Given the description of an element on the screen output the (x, y) to click on. 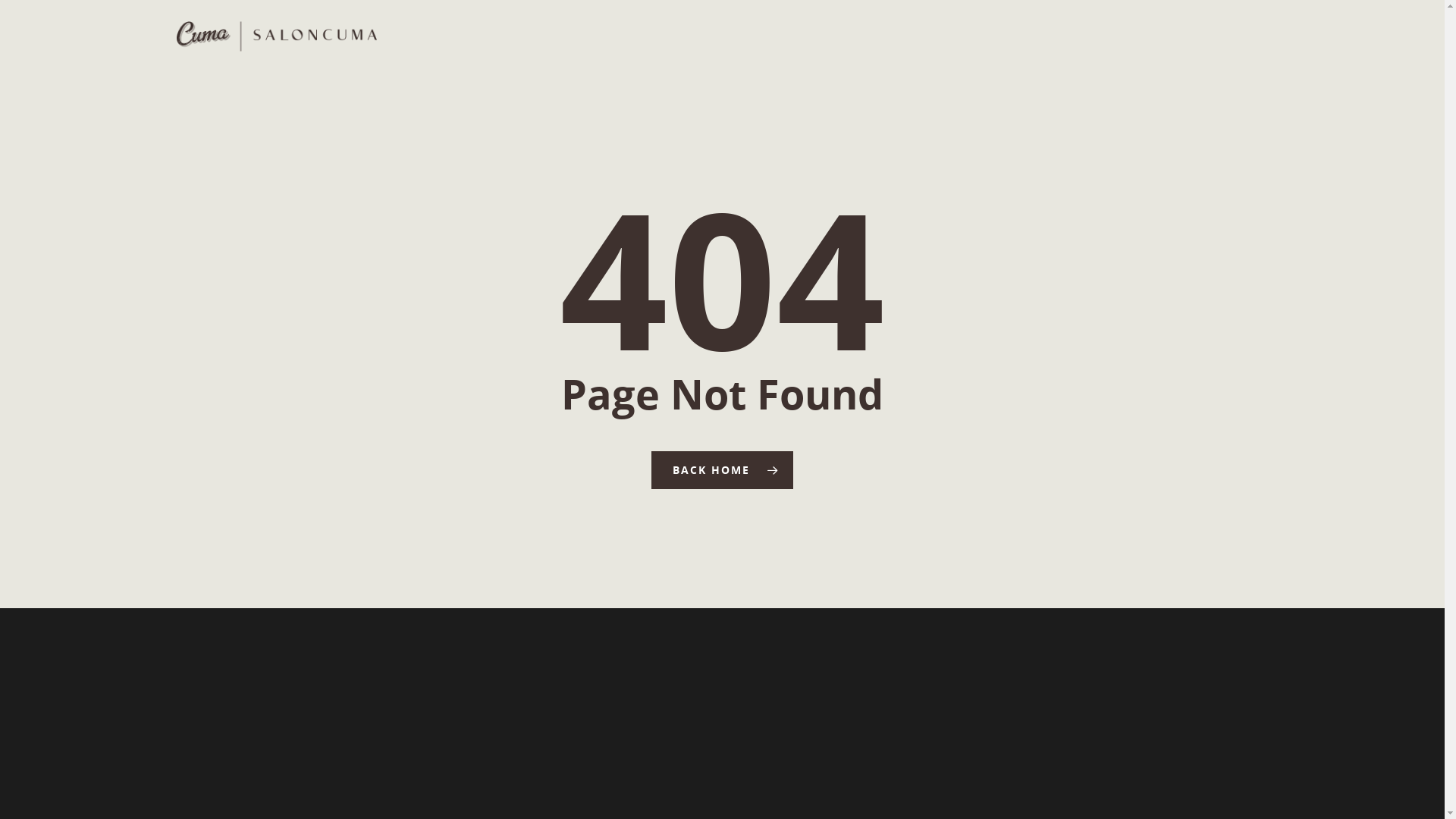
BACK HOME Element type: text (722, 470)
